Given the description of an element on the screen output the (x, y) to click on. 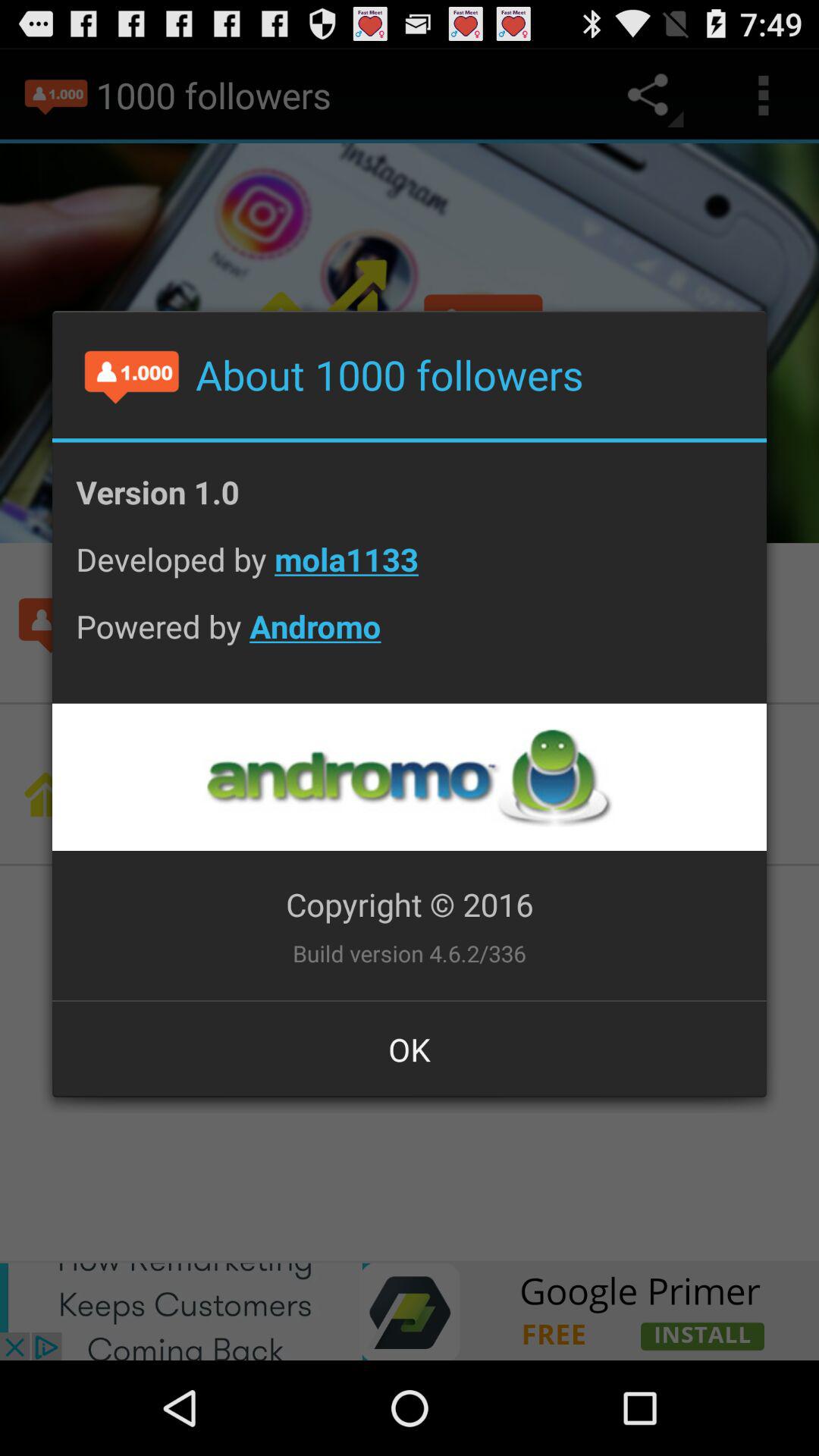
turn on the ok (409, 1049)
